Given the description of an element on the screen output the (x, y) to click on. 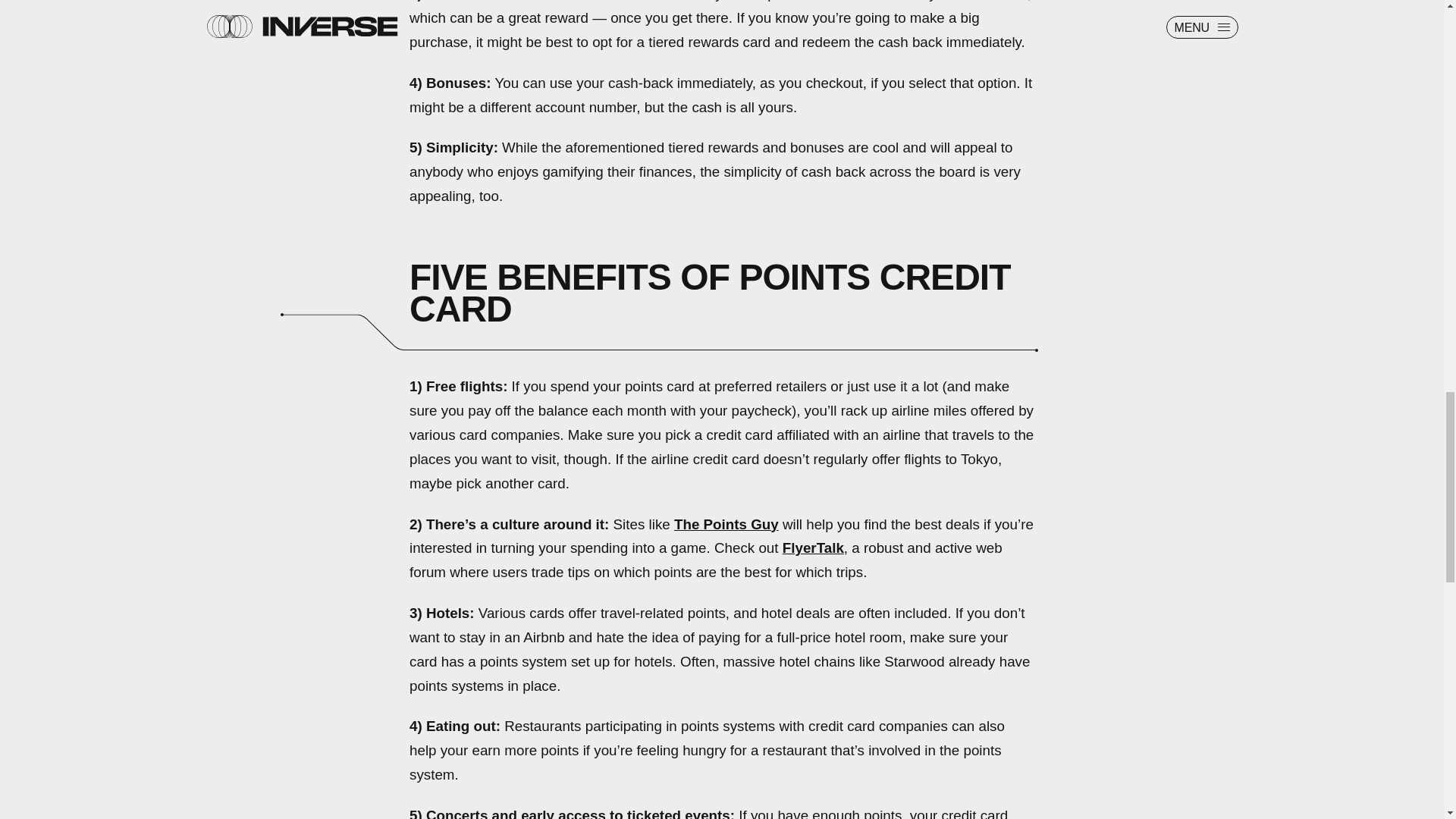
The Points Guy (726, 524)
FlyerTalk (813, 547)
